Given the description of an element on the screen output the (x, y) to click on. 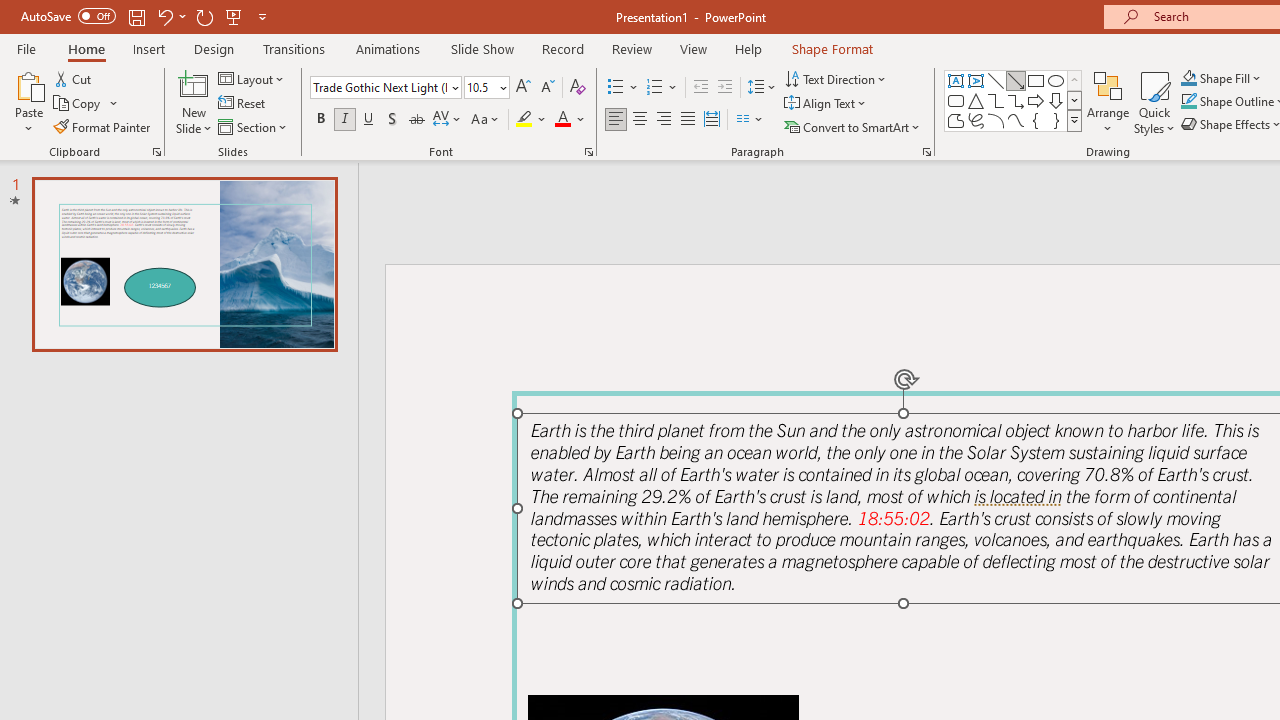
Shape Outline Teal, Accent 1 (1188, 101)
